Given the description of an element on the screen output the (x, y) to click on. 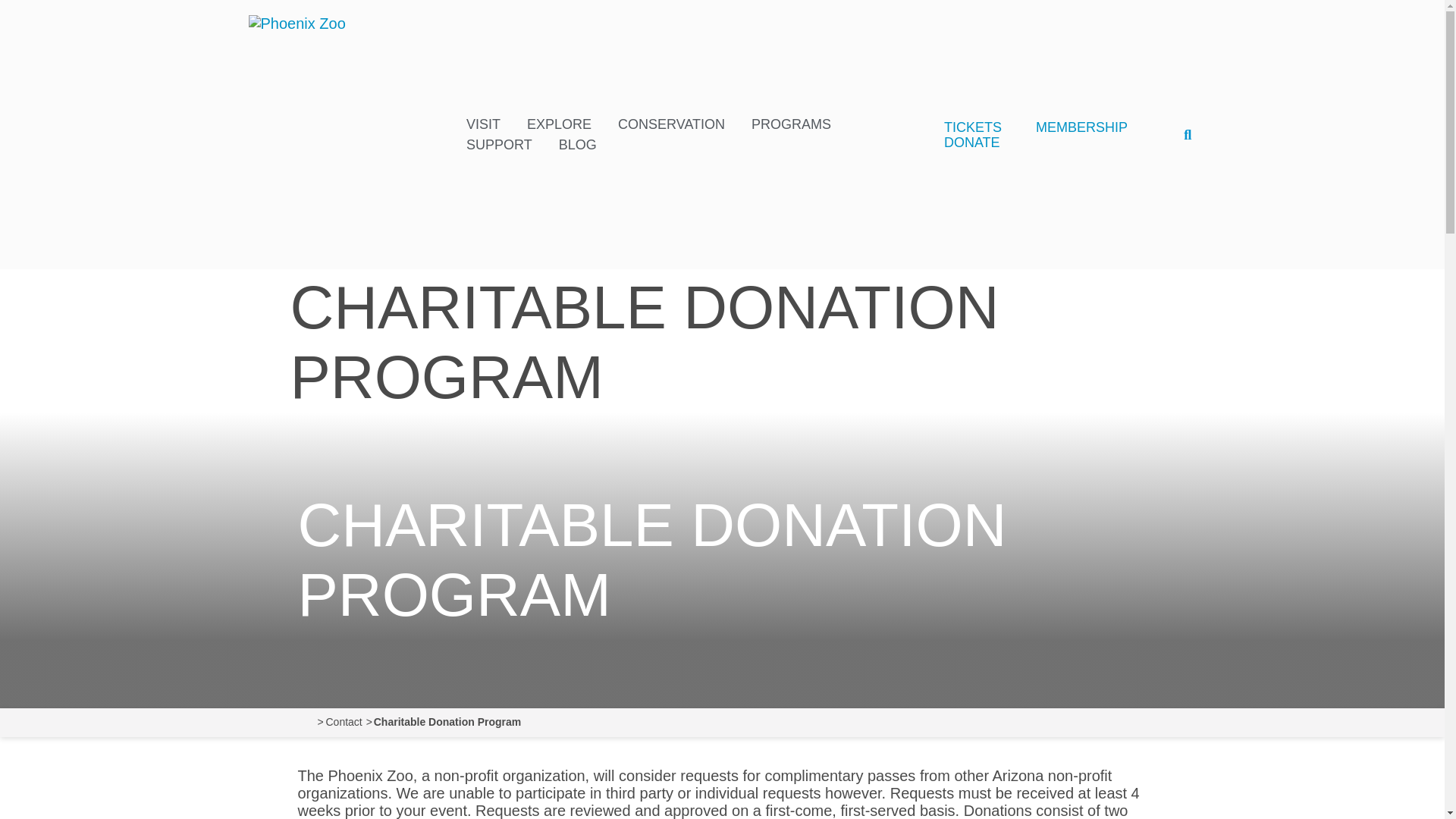
VISIT (482, 123)
CONSERVATION (671, 123)
EXPLORE (559, 123)
SUPPORT (498, 145)
PROGRAMS (791, 123)
